Given the description of an element on the screen output the (x, y) to click on. 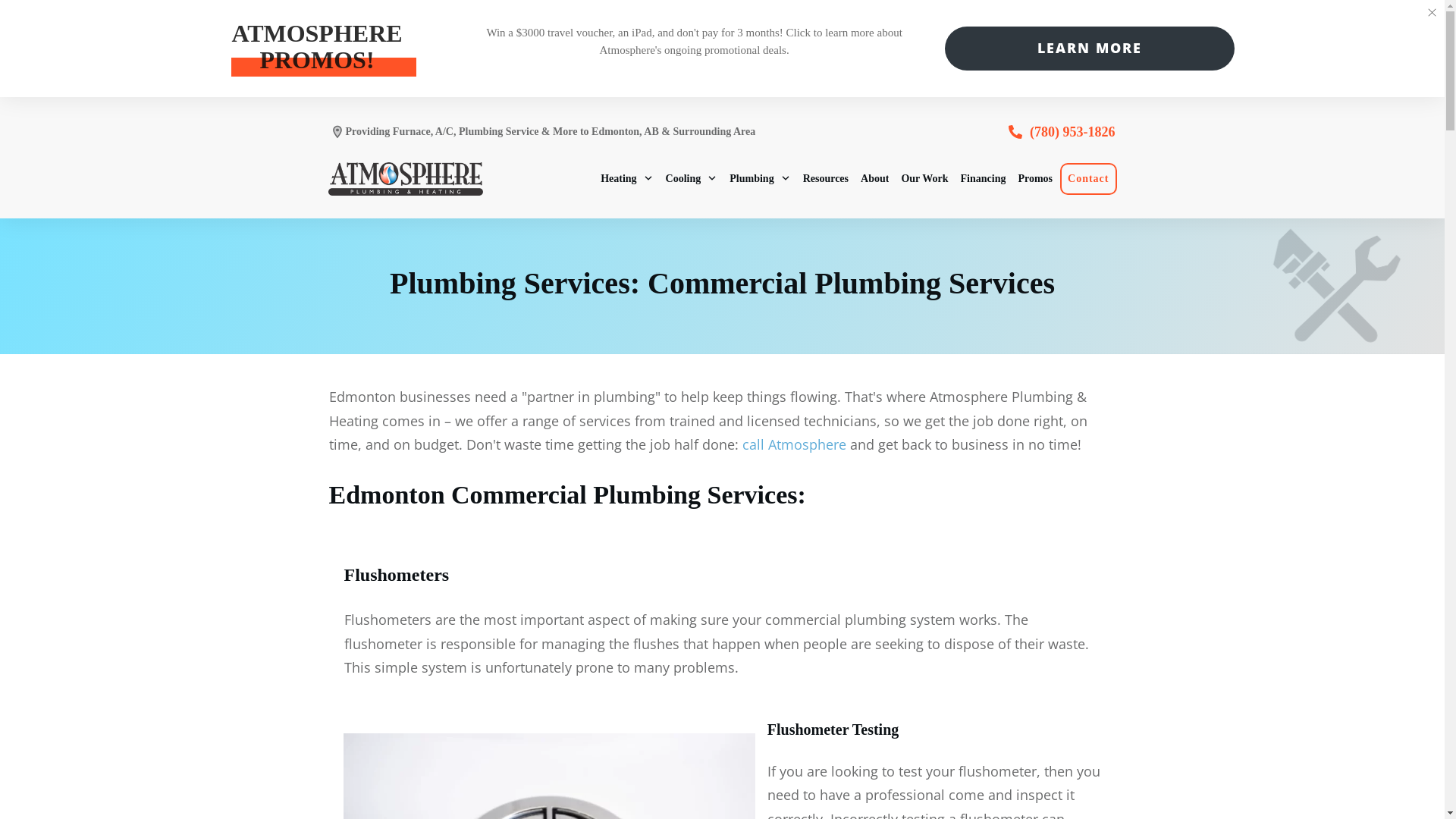
Contact Element type: text (1087, 177)
Promos Element type: text (1034, 177)
Our Work Element type: text (923, 177)
call Atmosphere Element type: text (793, 444)
Heating Element type: text (626, 177)
Financing Element type: text (983, 177)
Cooling Element type: text (691, 177)
Commercial Plumbing Services Element type: text (850, 283)
LEARN MORE Element type: text (1088, 48)
About Element type: text (874, 177)
Resources Element type: text (825, 177)
(780) 953-1826 Element type: text (1071, 131)
Plumbing Element type: text (759, 177)
